Given the description of an element on the screen output the (x, y) to click on. 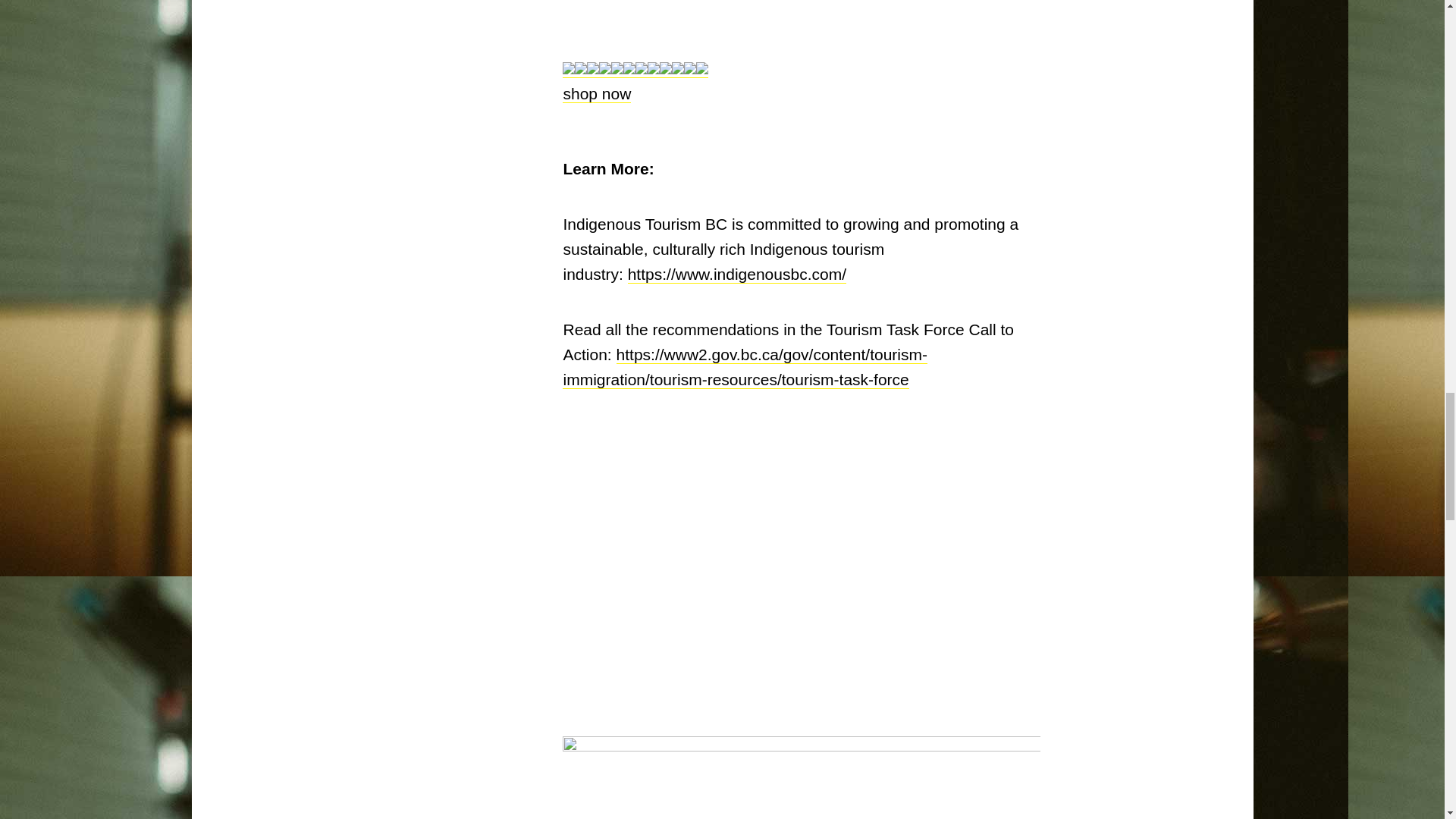
shop now (596, 94)
